Given the description of an element on the screen output the (x, y) to click on. 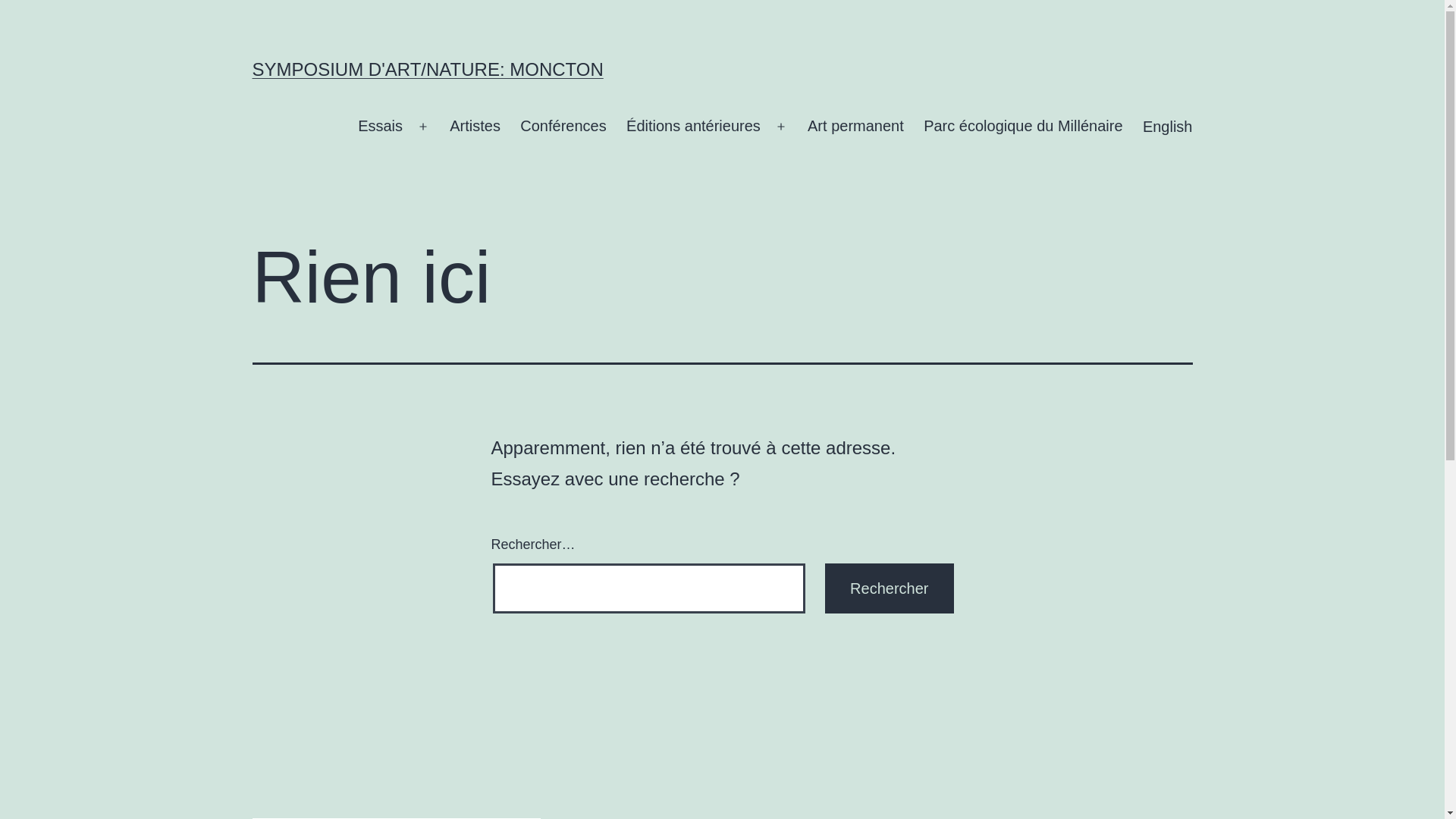
Ouvrir le menu Element type: text (422, 126)
Essais Element type: text (380, 126)
Ouvrir le menu Element type: text (780, 126)
Artistes Element type: text (474, 126)
SYMPOSIUM D'ART/NATURE: MONCTON Element type: text (426, 69)
Art permanent Element type: text (855, 126)
Rechercher Element type: text (889, 588)
English Element type: text (1167, 126)
